Given the description of an element on the screen output the (x, y) to click on. 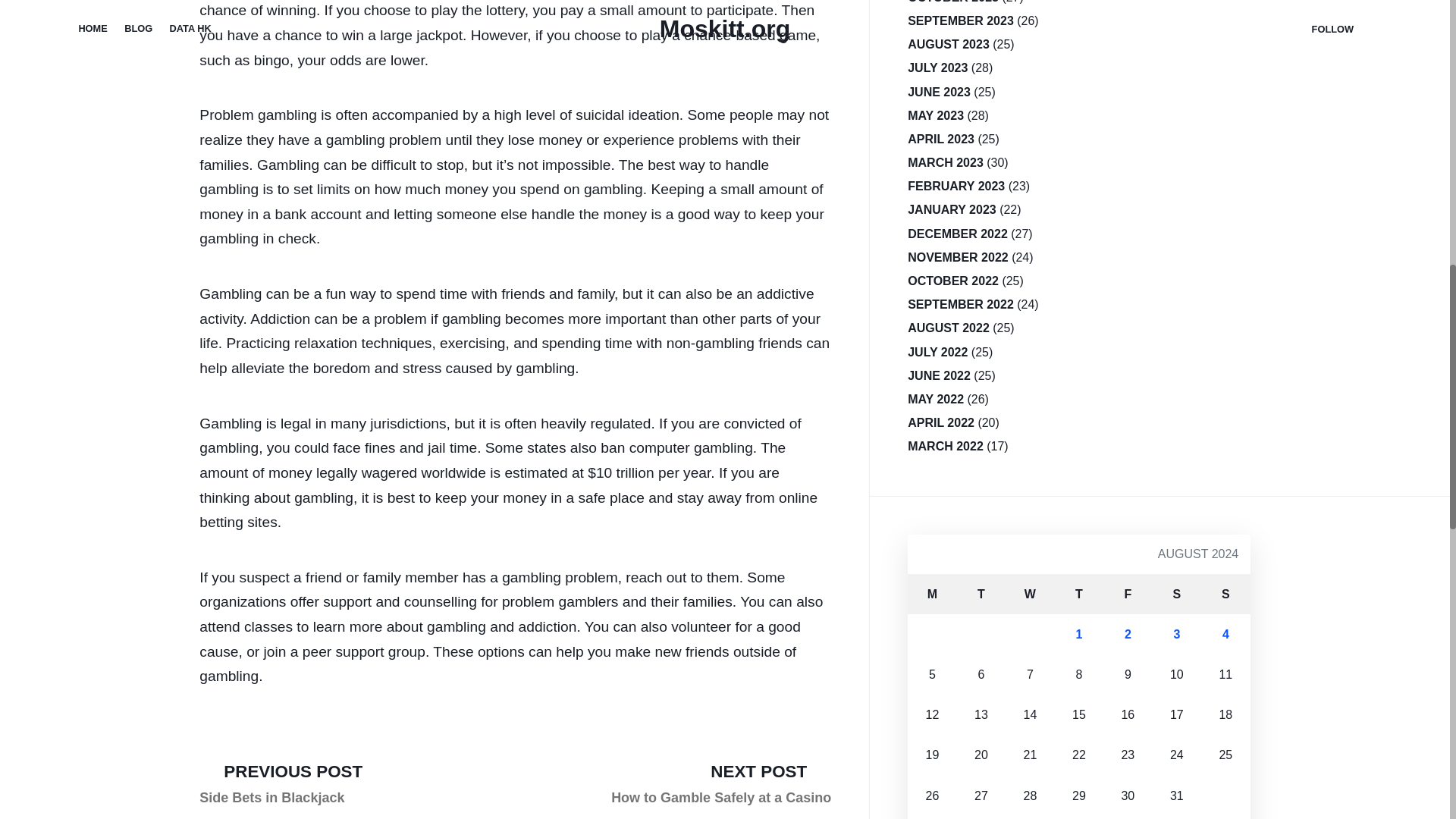
OCTOBER 2023 (952, 4)
SEPTEMBER 2023 (960, 20)
Friday (1127, 594)
Sunday (1225, 594)
Tuesday (981, 594)
Monday (931, 594)
Thursday (280, 783)
Saturday (1078, 594)
JUNE 2023 (1177, 594)
